Given the description of an element on the screen output the (x, y) to click on. 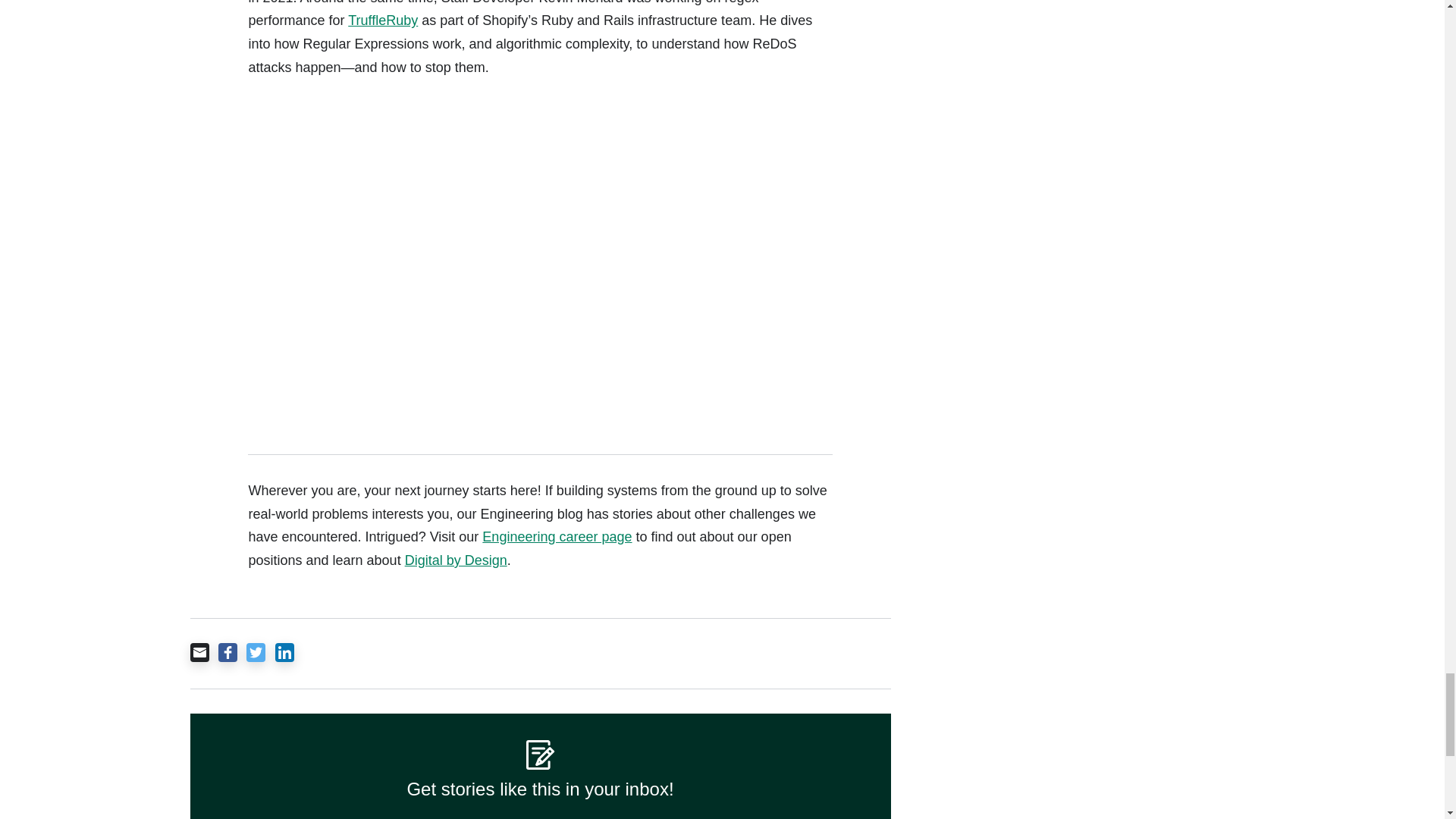
TruffleRuby (382, 20)
Engineering career page (556, 536)
